Given the description of an element on the screen output the (x, y) to click on. 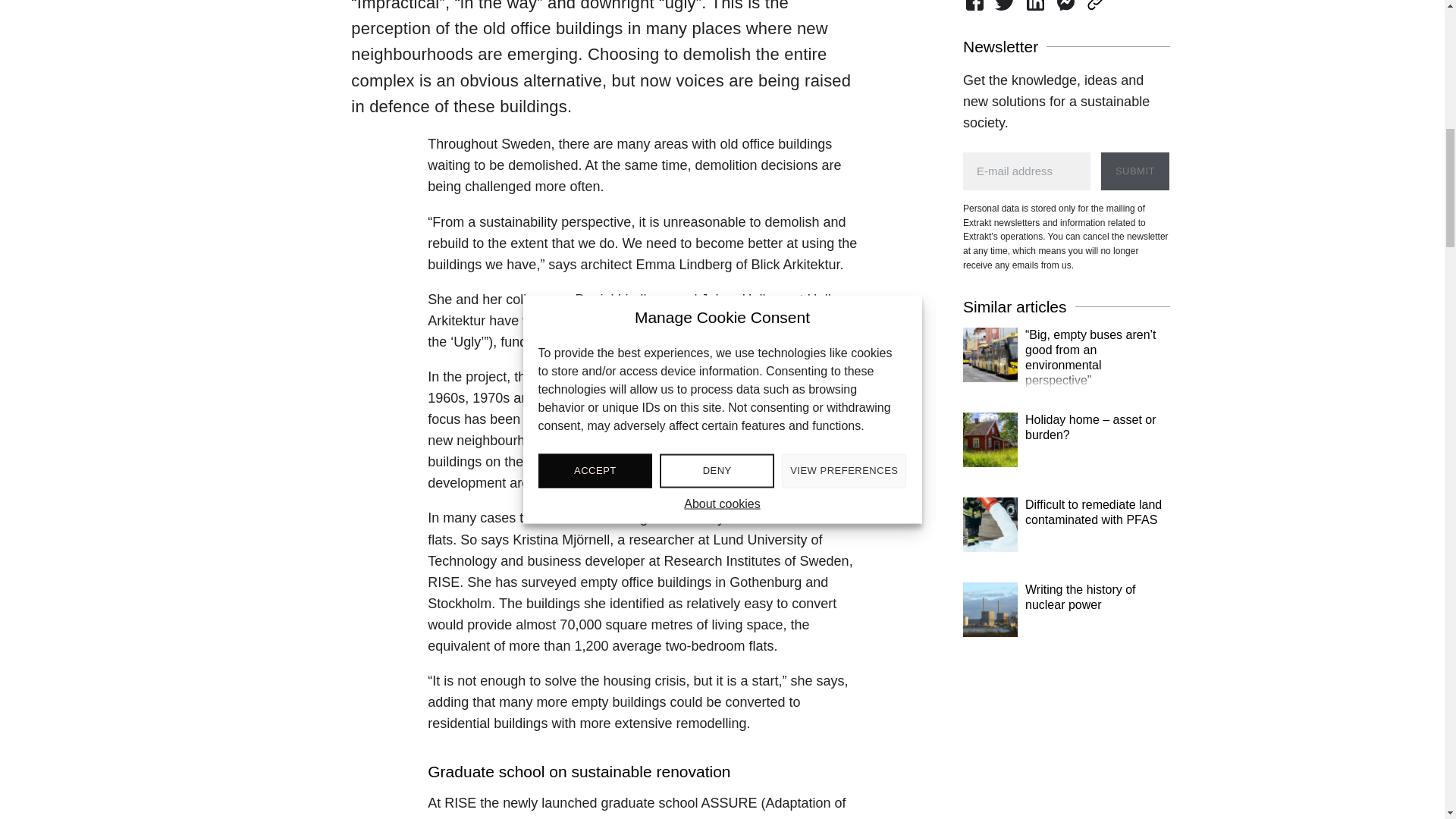
Submit (1134, 171)
Difficult to remediate land contaminated with PFAS (1066, 532)
Writing the history of nuclear power (1066, 616)
